Given the description of an element on the screen output the (x, y) to click on. 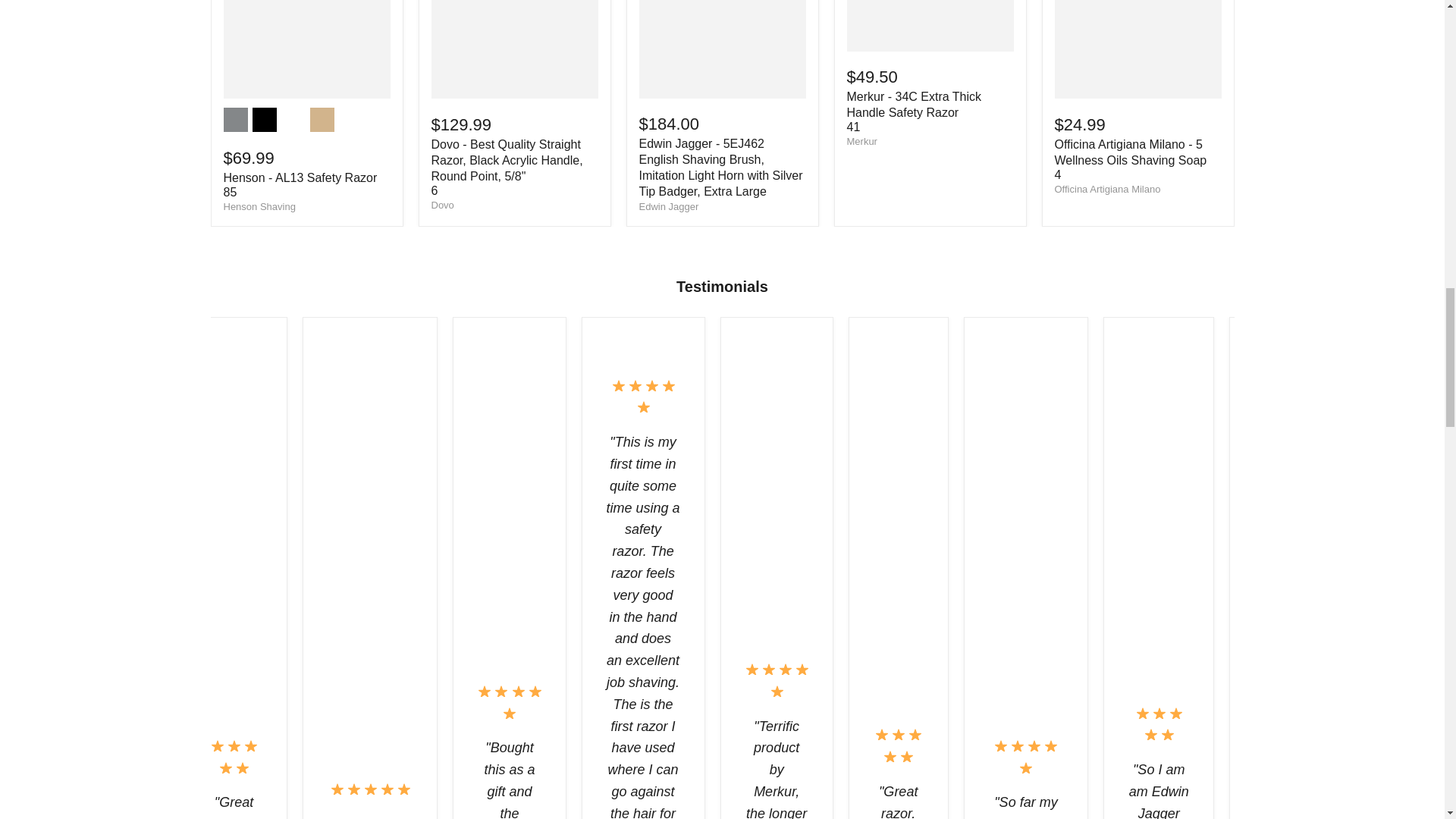
Henson Shaving (258, 206)
Merkur (860, 141)
Officina Artigiana Milano (1107, 188)
Edwin Jagger (668, 206)
Dovo (441, 204)
